Given the description of an element on the screen output the (x, y) to click on. 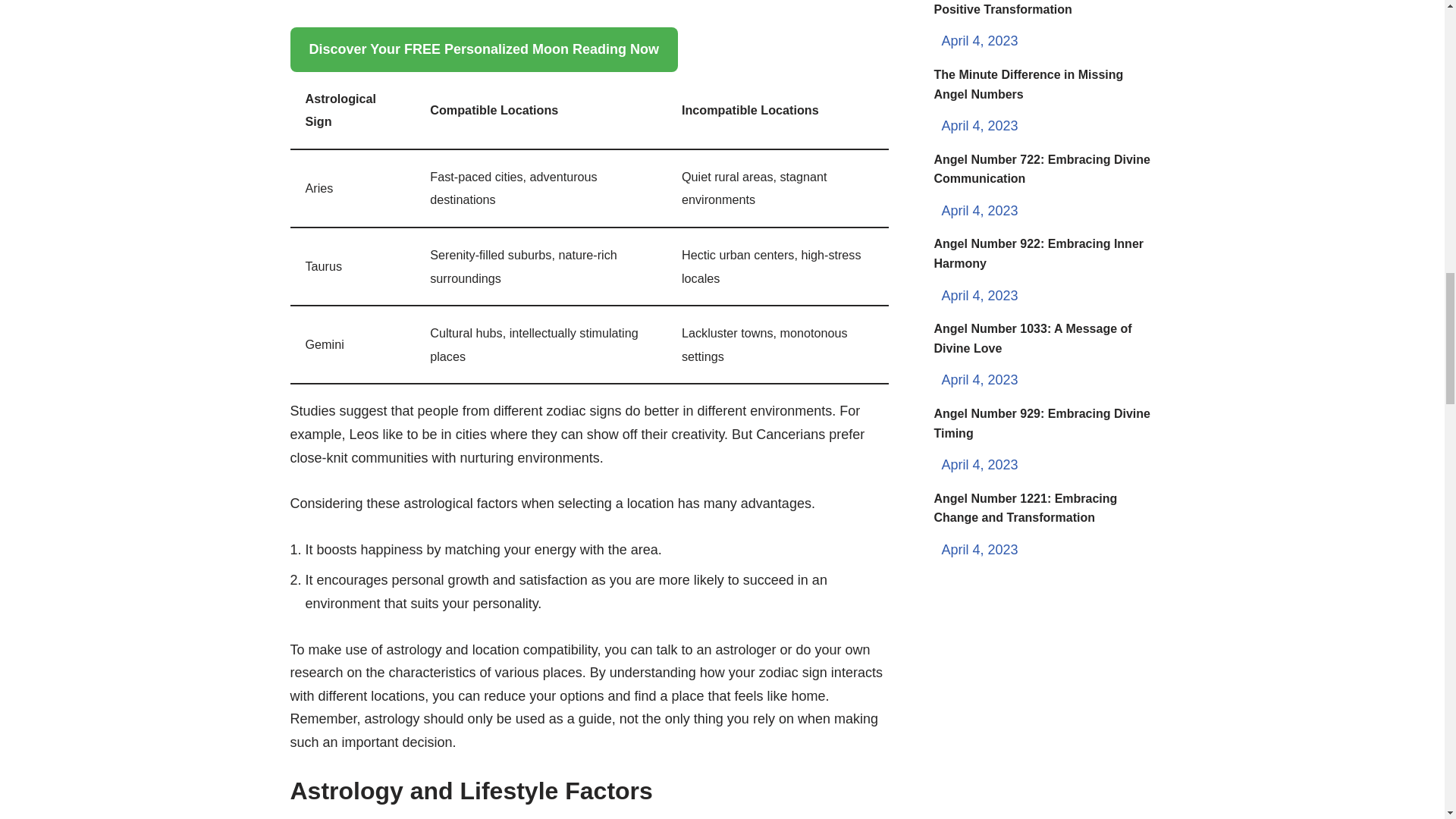
Discover Your FREE Personalized Moon Reading Now (483, 49)
